Given the description of an element on the screen output the (x, y) to click on. 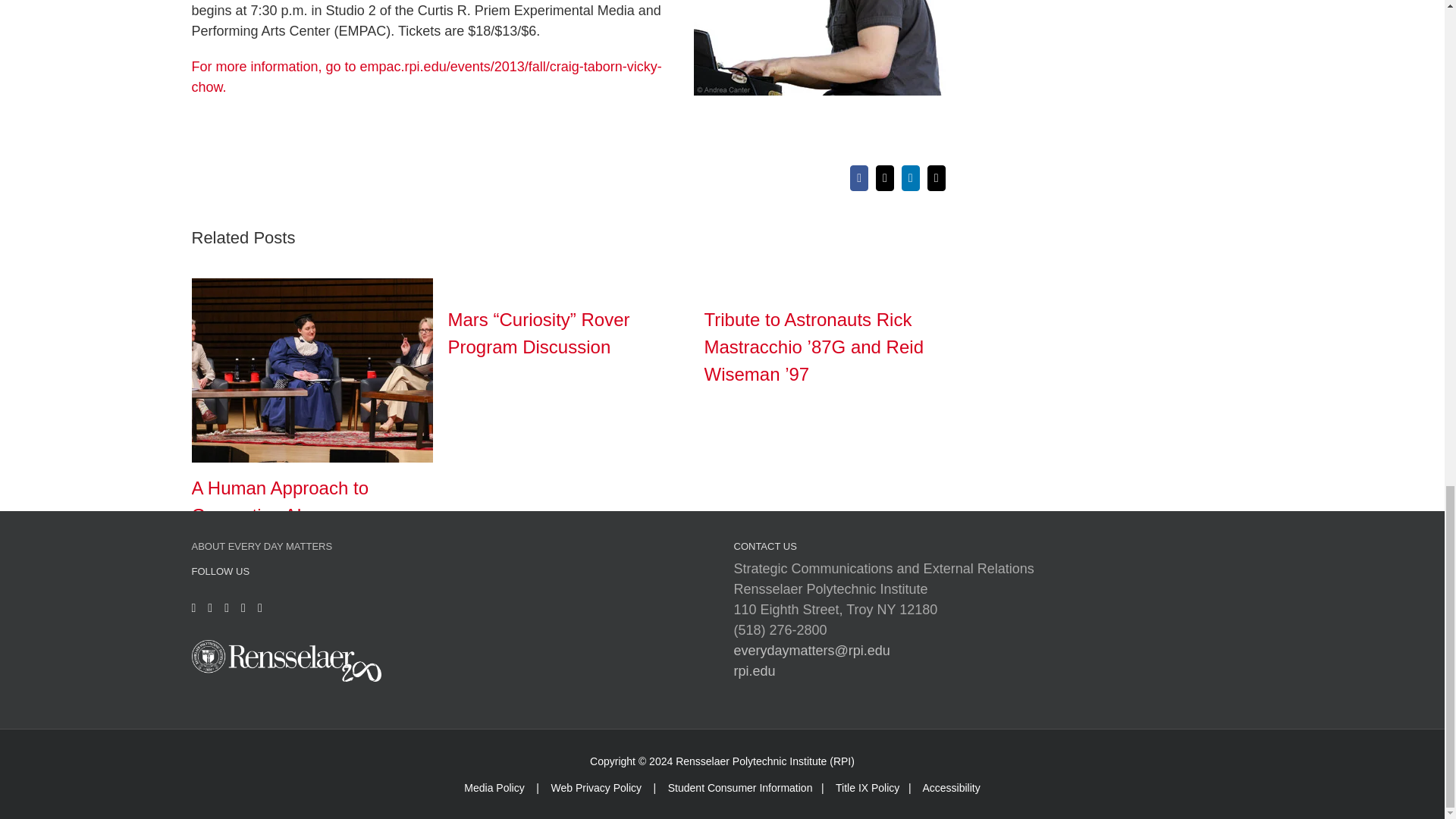
A Human Approach to Generative AI (279, 501)
X (884, 177)
Facebook (858, 177)
